Given the description of an element on the screen output the (x, y) to click on. 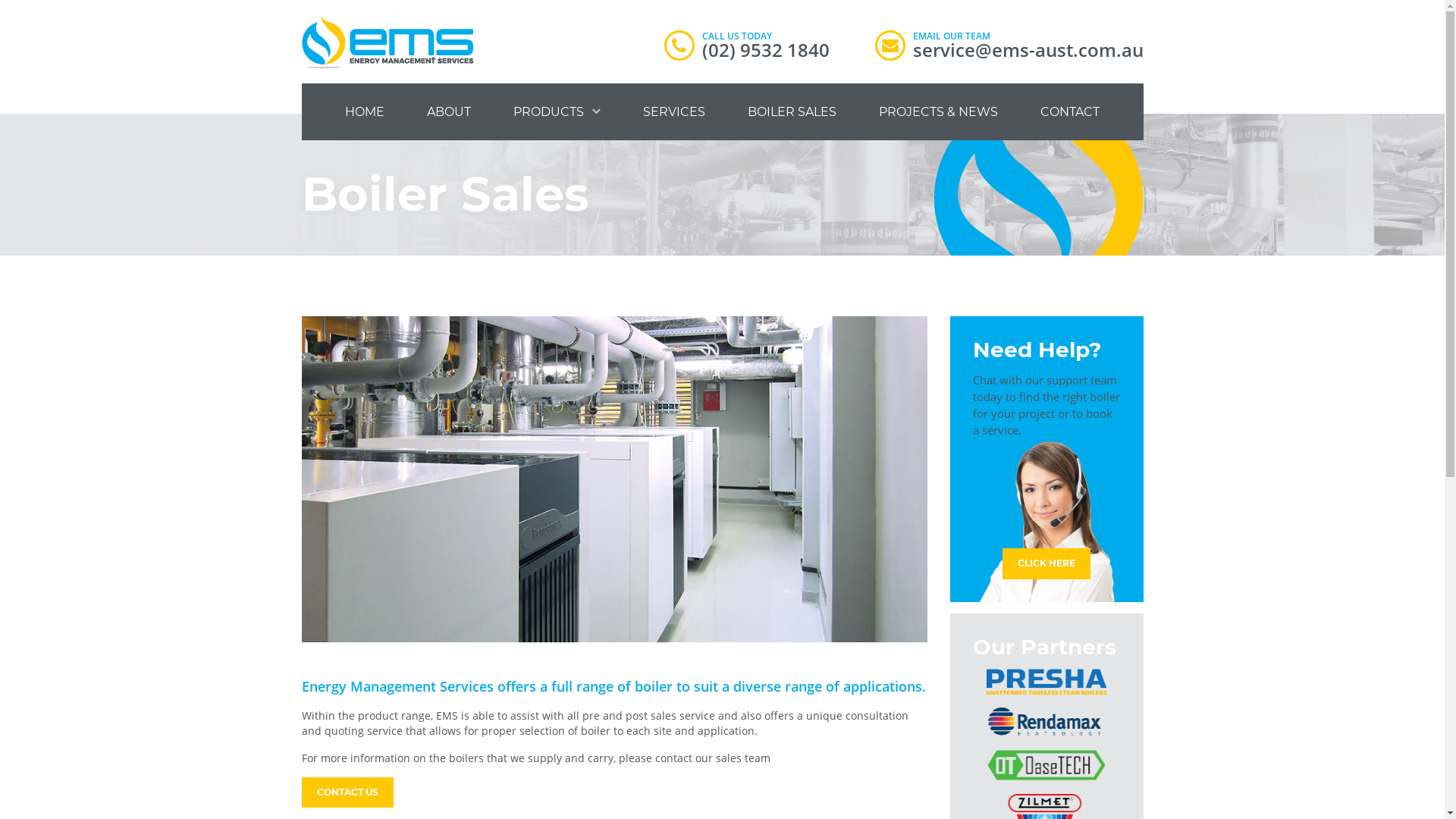
CONTACT Element type: text (1069, 111)
ABOUT Element type: text (448, 111)
PROJECTS & NEWS Element type: text (938, 111)
HOME Element type: text (365, 111)
PRODUCTS Element type: text (556, 111)
SERVICES Element type: text (673, 111)
CONTACT US Element type: text (347, 792)
BOILER SALES Element type: text (791, 111)
CLICK HERE Element type: text (1046, 563)
